Given the description of an element on the screen output the (x, y) to click on. 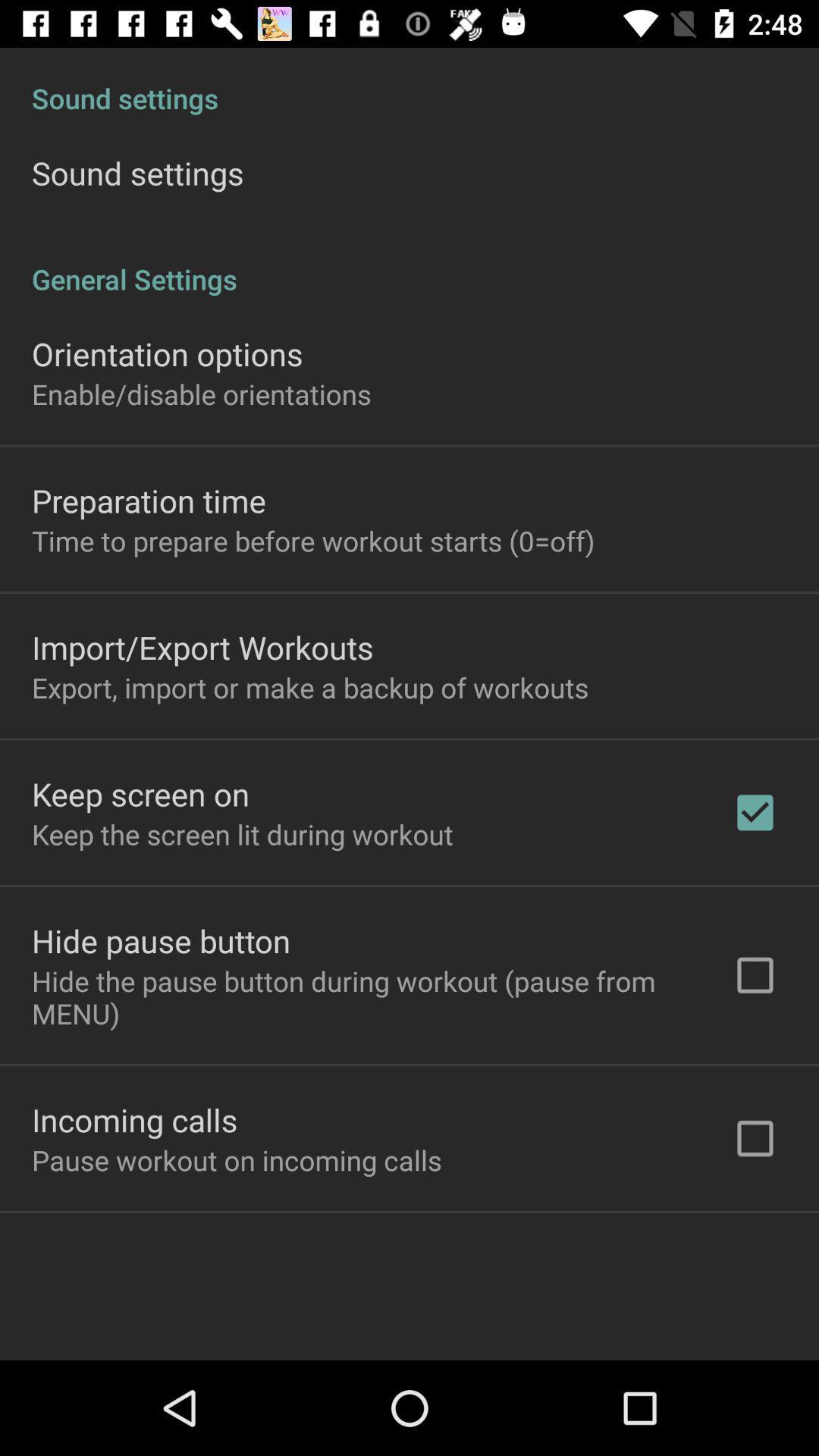
choose the app above the preparation time icon (201, 393)
